Given the description of an element on the screen output the (x, y) to click on. 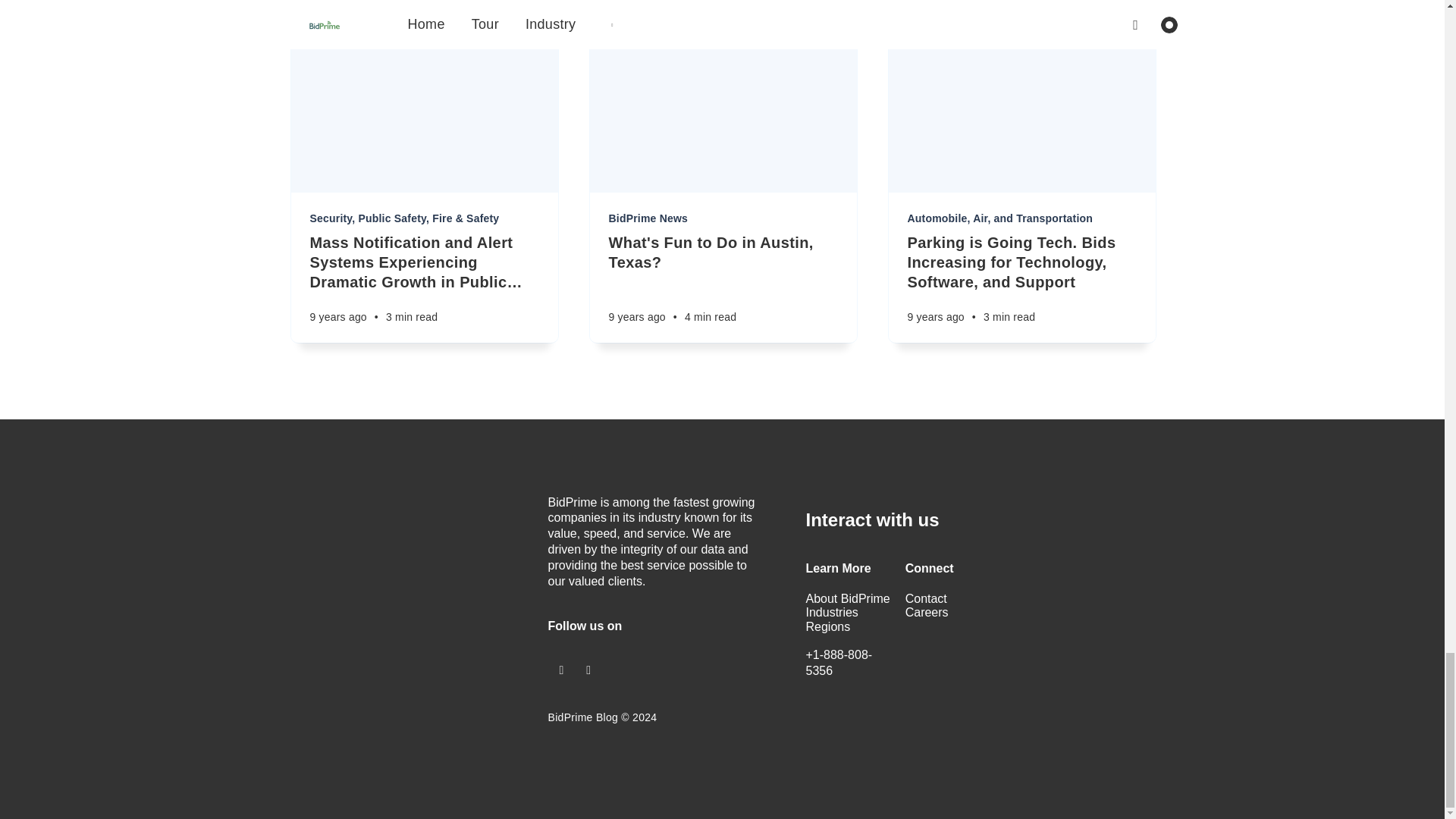
What's Fun to Do in Austin, Texas? (722, 251)
